Given the description of an element on the screen output the (x, y) to click on. 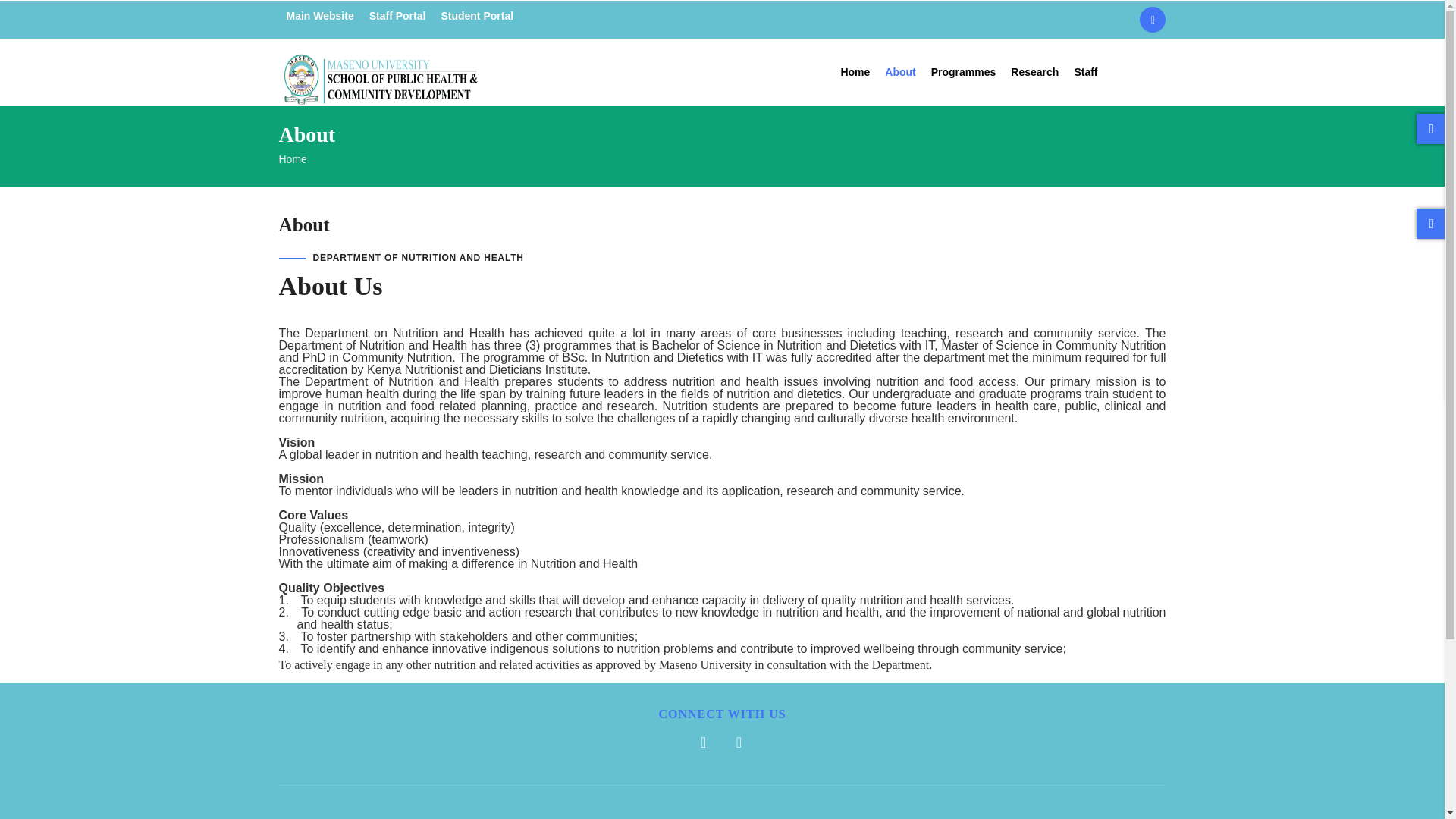
Home (293, 159)
Staff (1085, 72)
Main Website (320, 15)
Home (381, 68)
Research (1034, 72)
Programmes (963, 72)
Student Portal (476, 15)
Home (854, 72)
About (900, 72)
Staff Portal (397, 15)
